Given the description of an element on the screen output the (x, y) to click on. 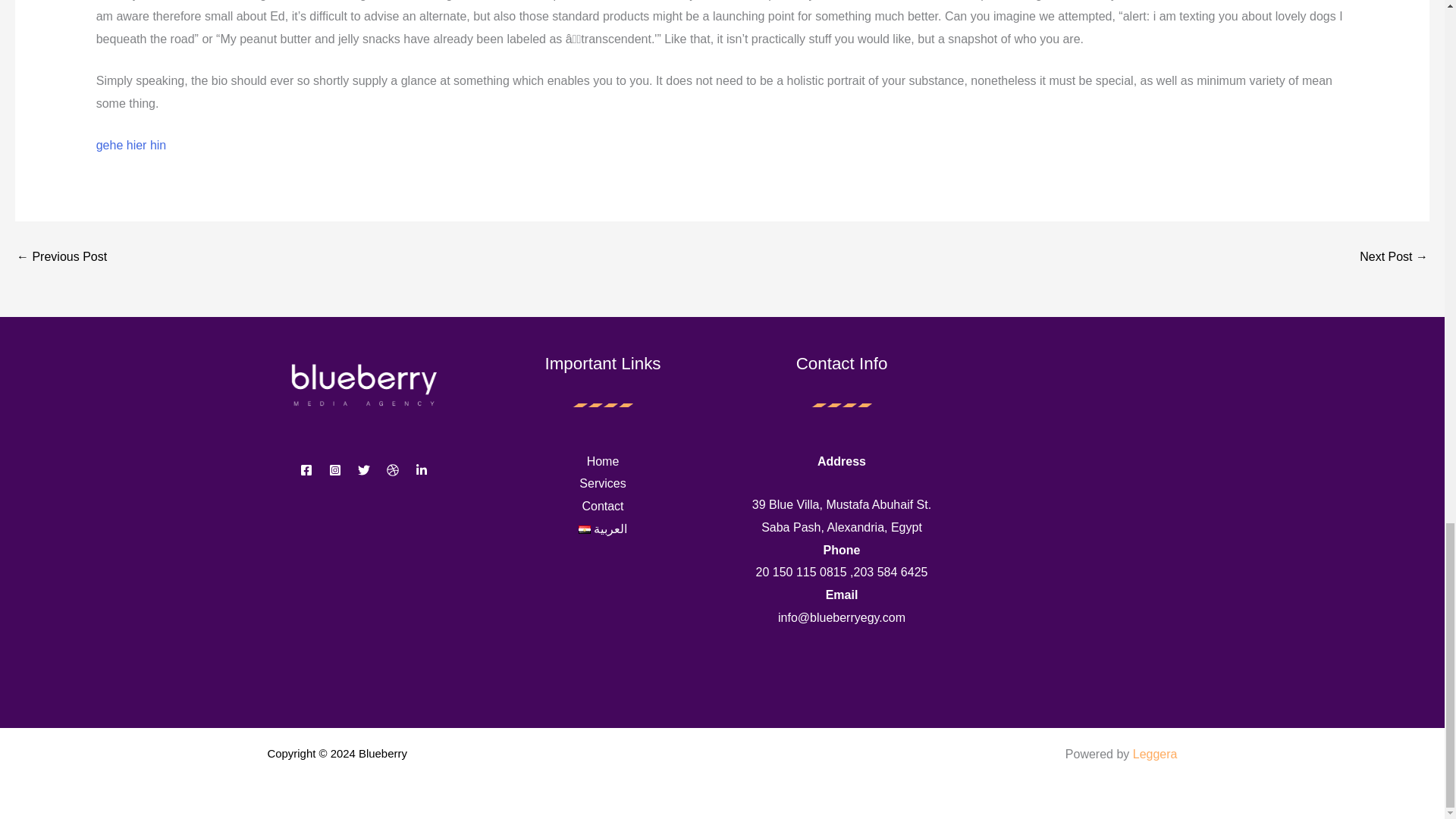
Contact (601, 505)
Leggera (1154, 753)
Services (602, 482)
Home (603, 461)
gehe hier hin (131, 144)
